Given the description of an element on the screen output the (x, y) to click on. 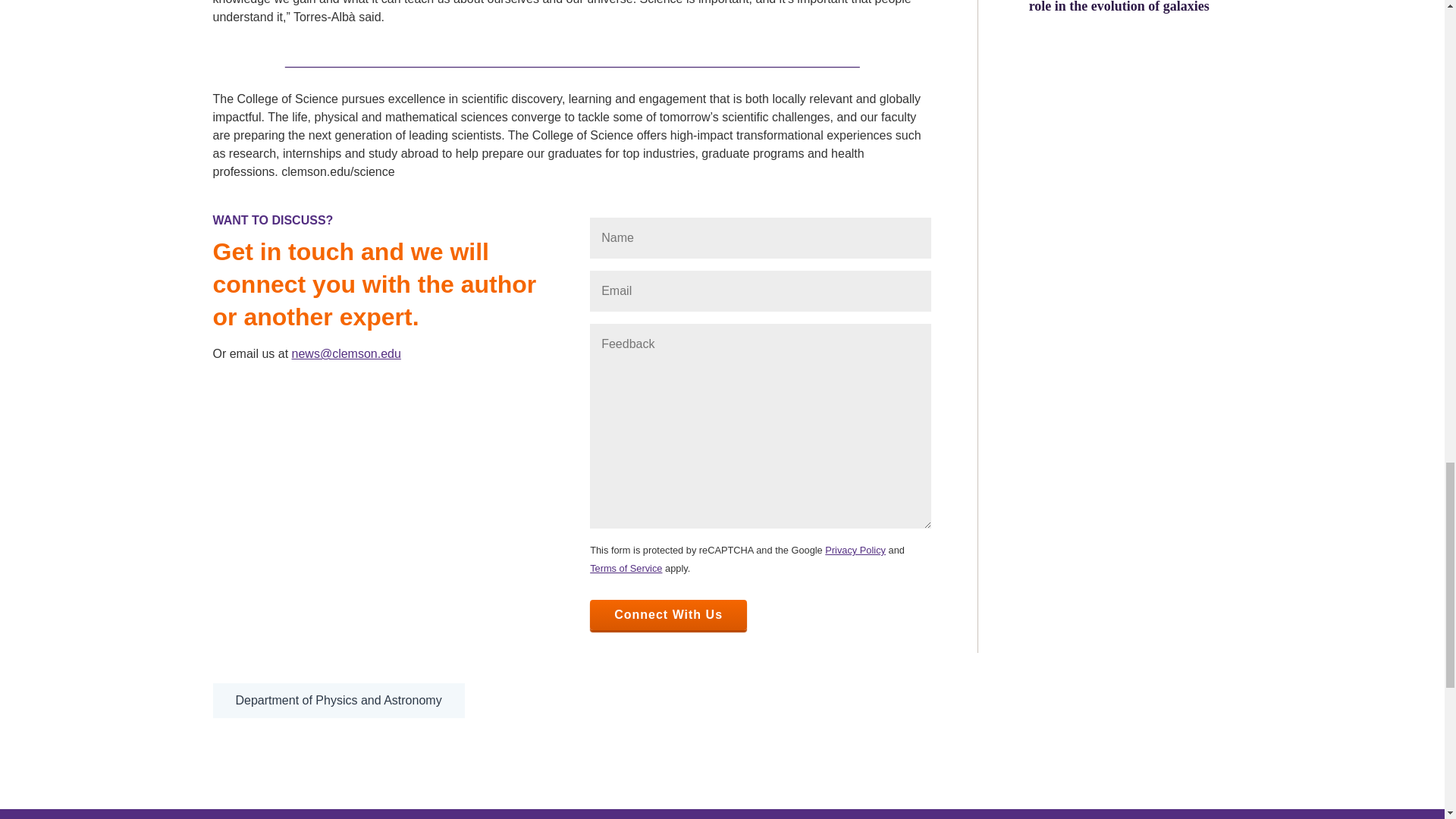
Connect With Us (667, 614)
